Given the description of an element on the screen output the (x, y) to click on. 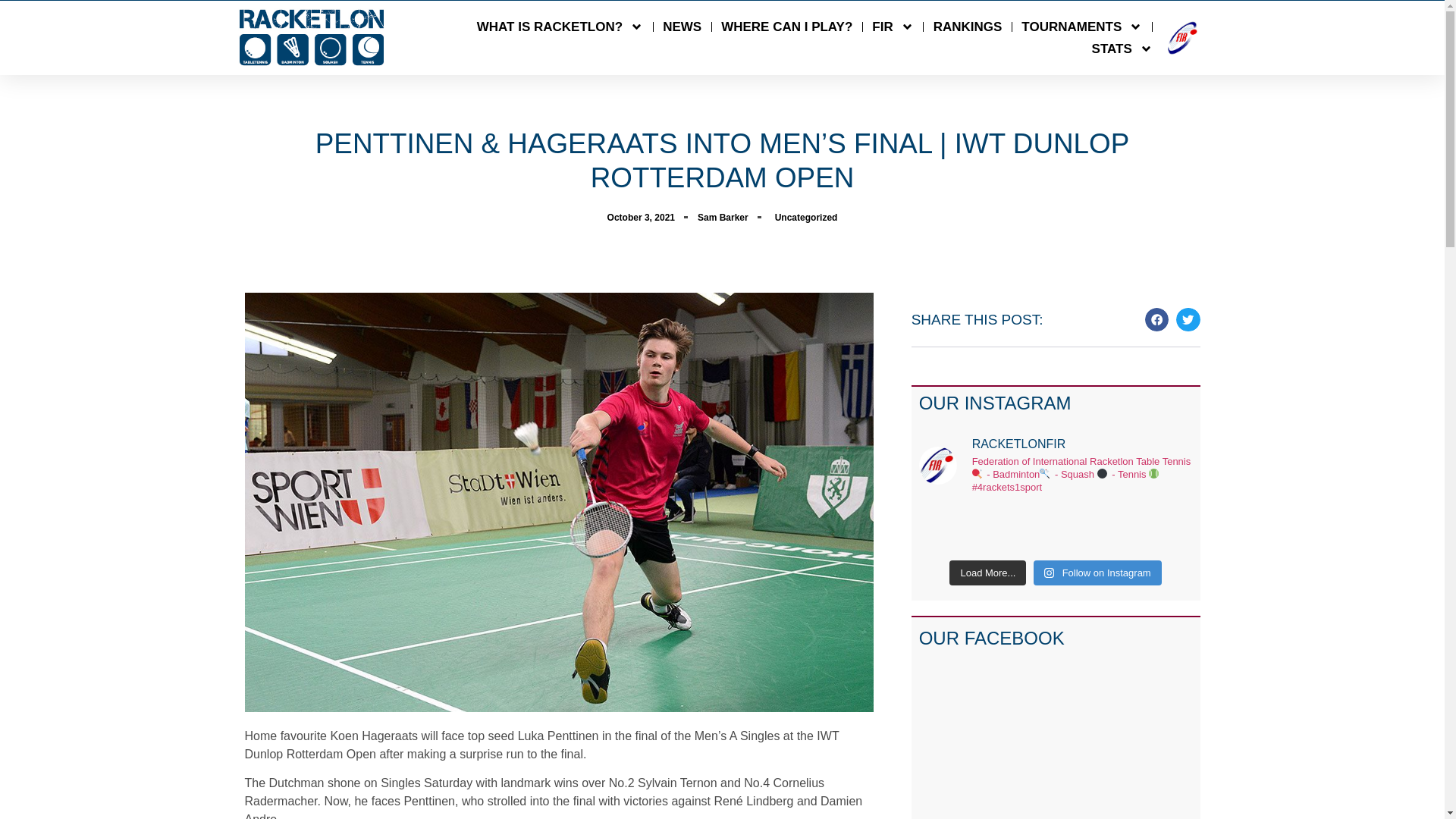
NEWS (681, 26)
WHERE CAN I PLAY? (785, 26)
FIR (892, 26)
STATS (1122, 48)
WHAT IS RACKETLON? (560, 26)
TOURNAMENTS (1081, 26)
RANKINGS (968, 26)
